Given the description of an element on the screen output the (x, y) to click on. 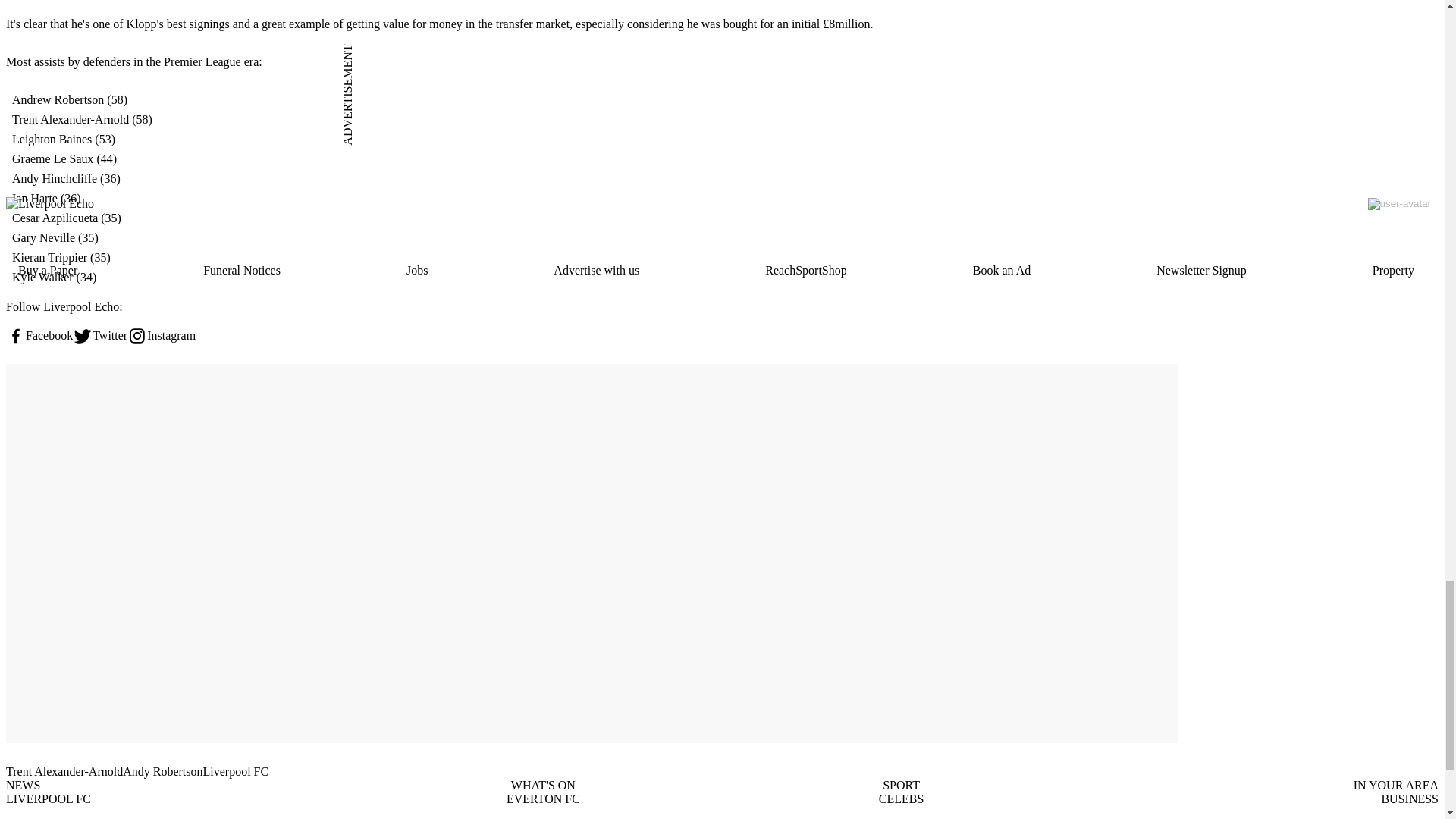
Instagram (161, 335)
Facebook (38, 335)
Twitter (100, 335)
